Given the description of an element on the screen output the (x, y) to click on. 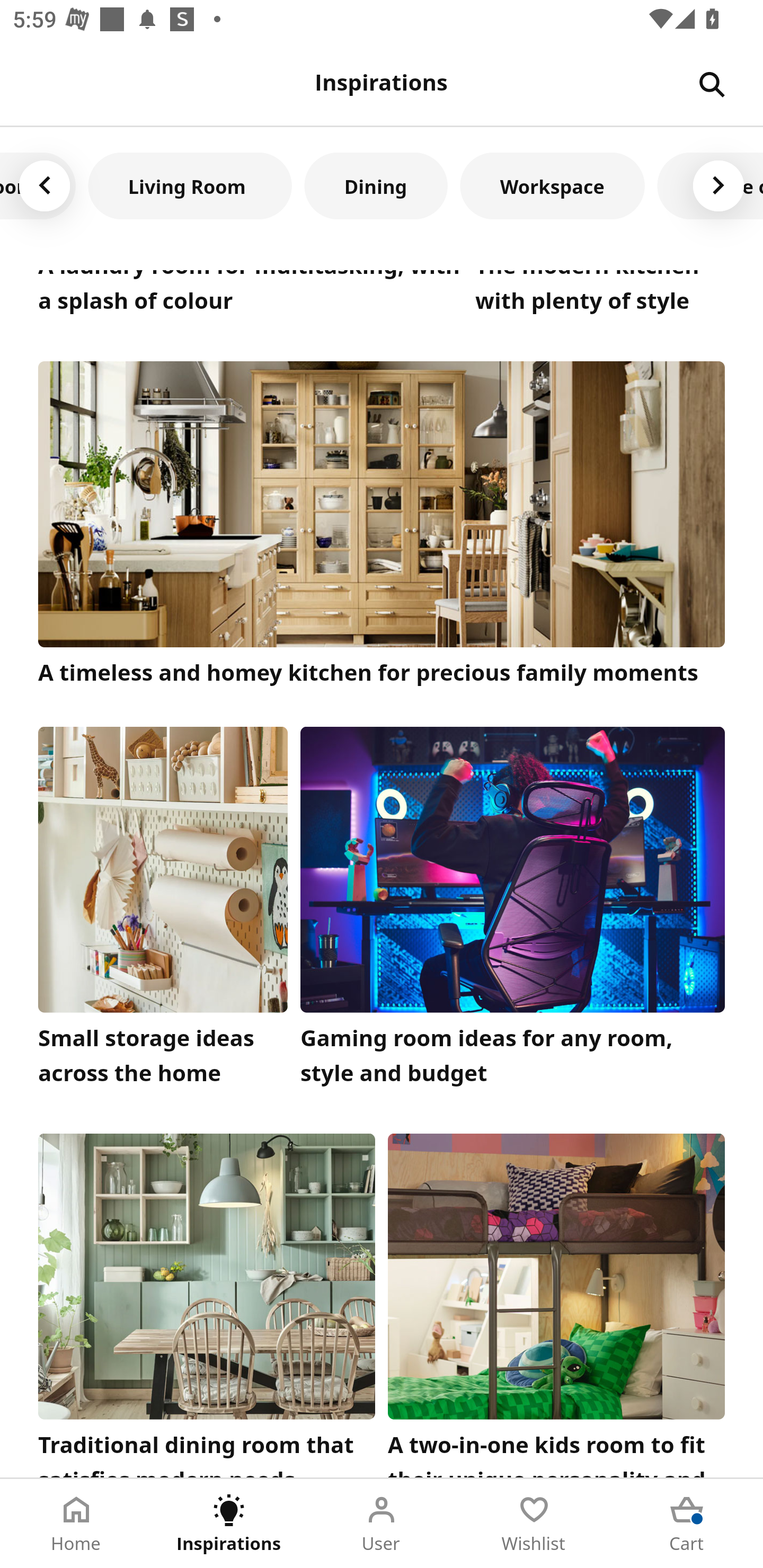
Living Room  (190, 185)
Dining (375, 185)
Workspace (552, 185)
Small storage ideas across the home (162, 911)
Gaming room ideas for any room, style and budget (512, 911)
Home
Tab 1 of 5 (76, 1522)
Inspirations
Tab 2 of 5 (228, 1522)
User
Tab 3 of 5 (381, 1522)
Wishlist
Tab 4 of 5 (533, 1522)
Cart
Tab 5 of 5 (686, 1522)
